Given the description of an element on the screen output the (x, y) to click on. 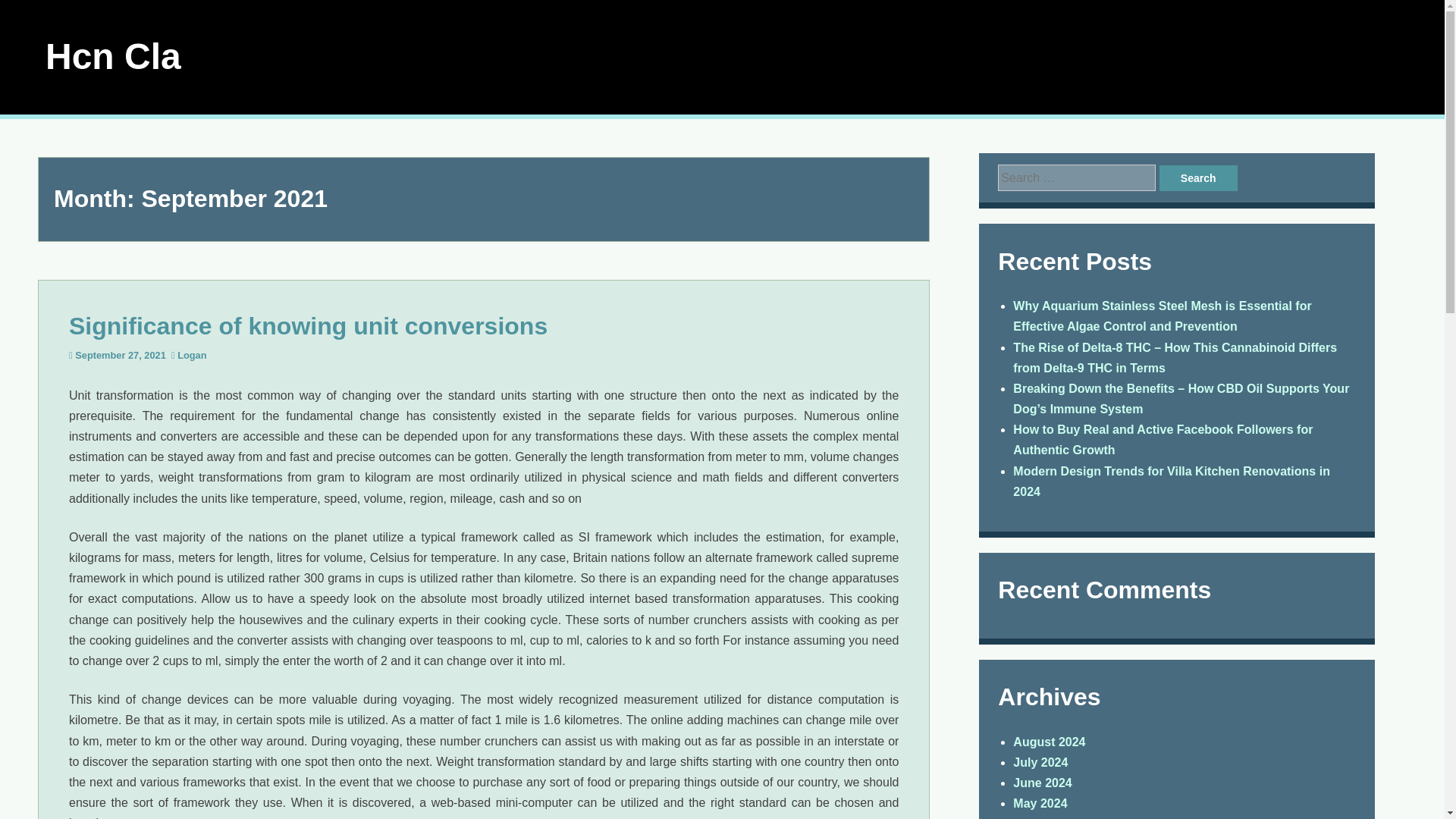
September 27, 2021 (120, 355)
Modern Design Trends for Villa Kitchen Renovations in 2024 (1171, 481)
June 2024 (1042, 782)
Search (1197, 177)
Logan (191, 355)
Search (1197, 177)
Significance of knowing unit conversions (307, 325)
July 2024 (1040, 762)
